Given the description of an element on the screen output the (x, y) to click on. 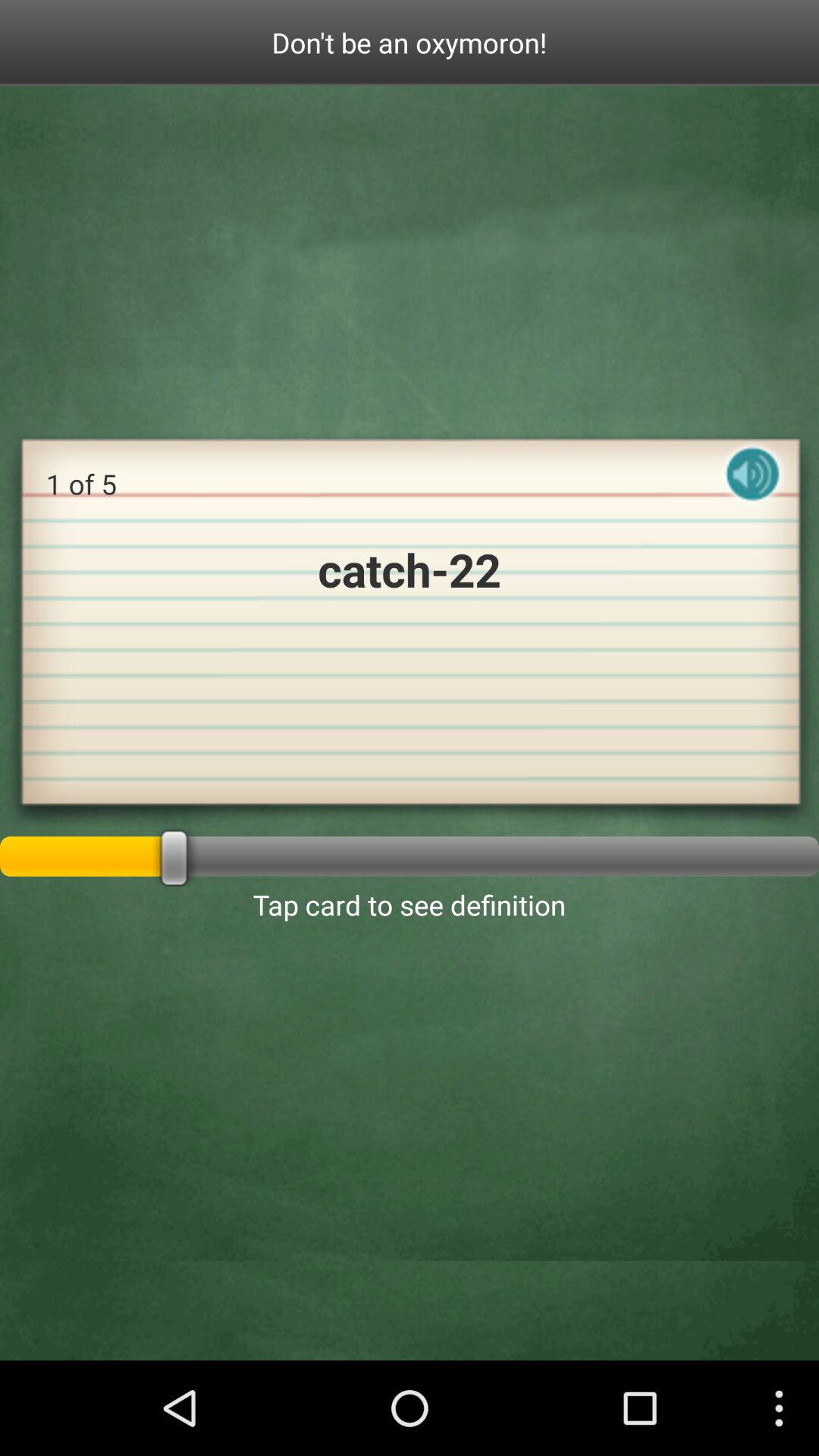
toggle volume option (752, 486)
